Given the description of an element on the screen output the (x, y) to click on. 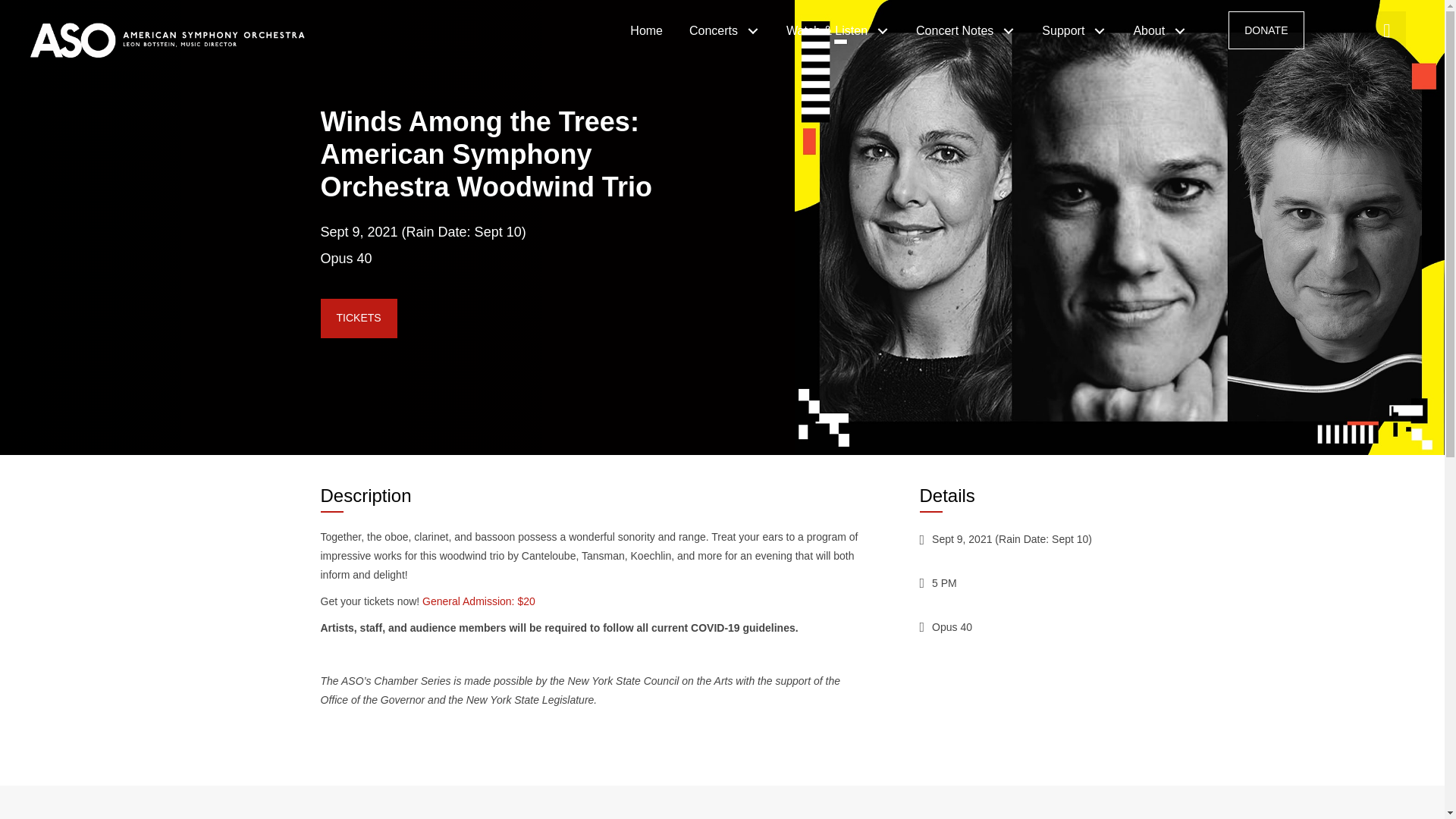
Concerts (726, 30)
logo (188, 36)
About (1161, 30)
Home (648, 30)
Support (1075, 30)
DONATE (1265, 30)
Concert Notes (967, 30)
